Given the description of an element on the screen output the (x, y) to click on. 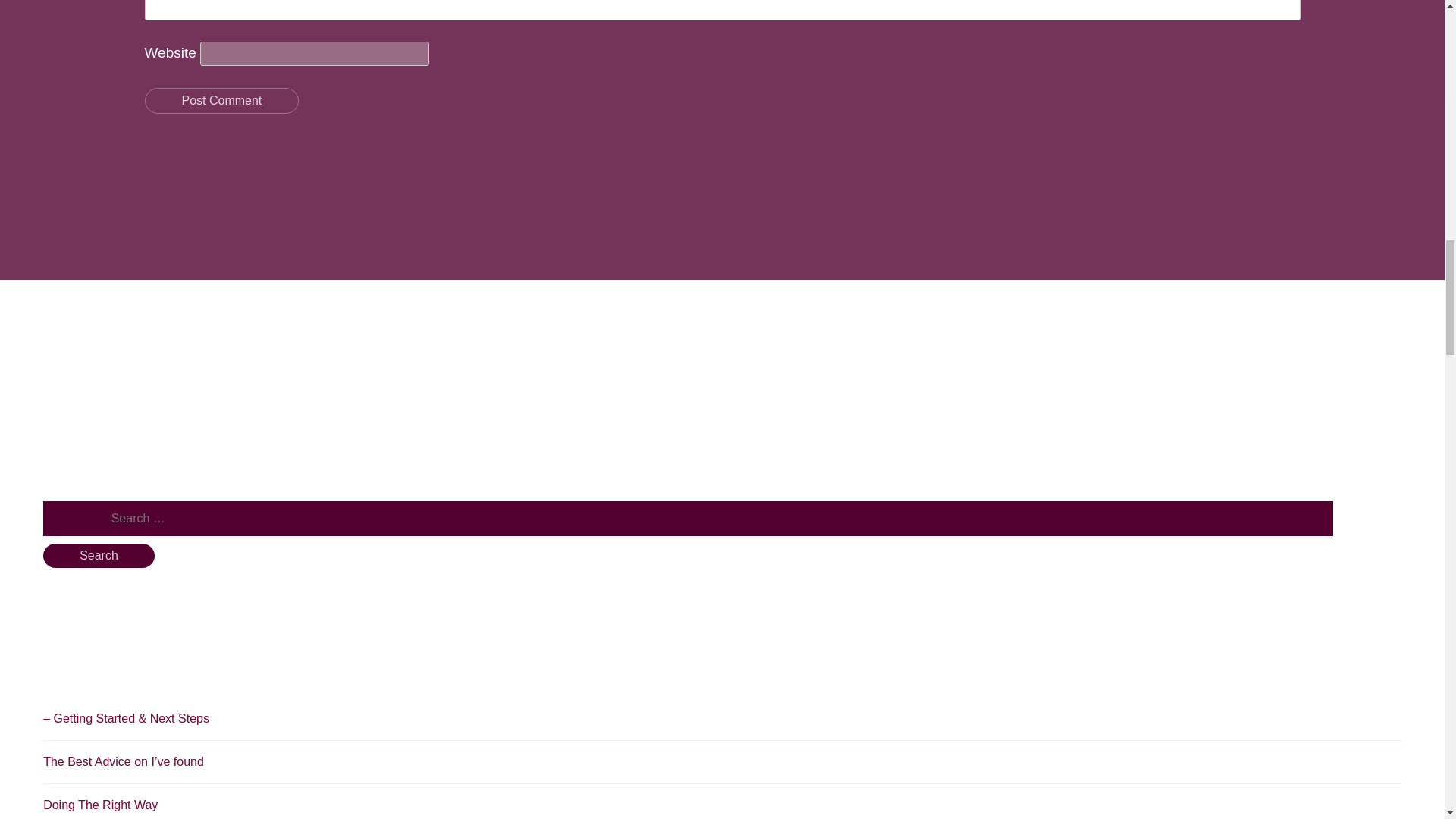
Search (98, 555)
Doing The Right Way (100, 804)
Search (98, 555)
Post Comment (221, 100)
Search (98, 555)
Post Comment (221, 100)
